Given the description of an element on the screen output the (x, y) to click on. 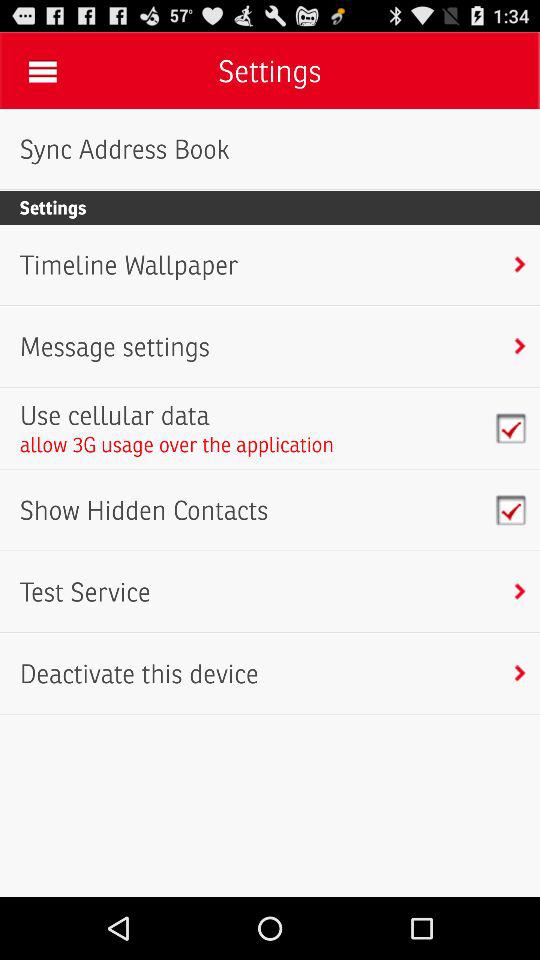
flip to sync address book app (124, 149)
